Given the description of an element on the screen output the (x, y) to click on. 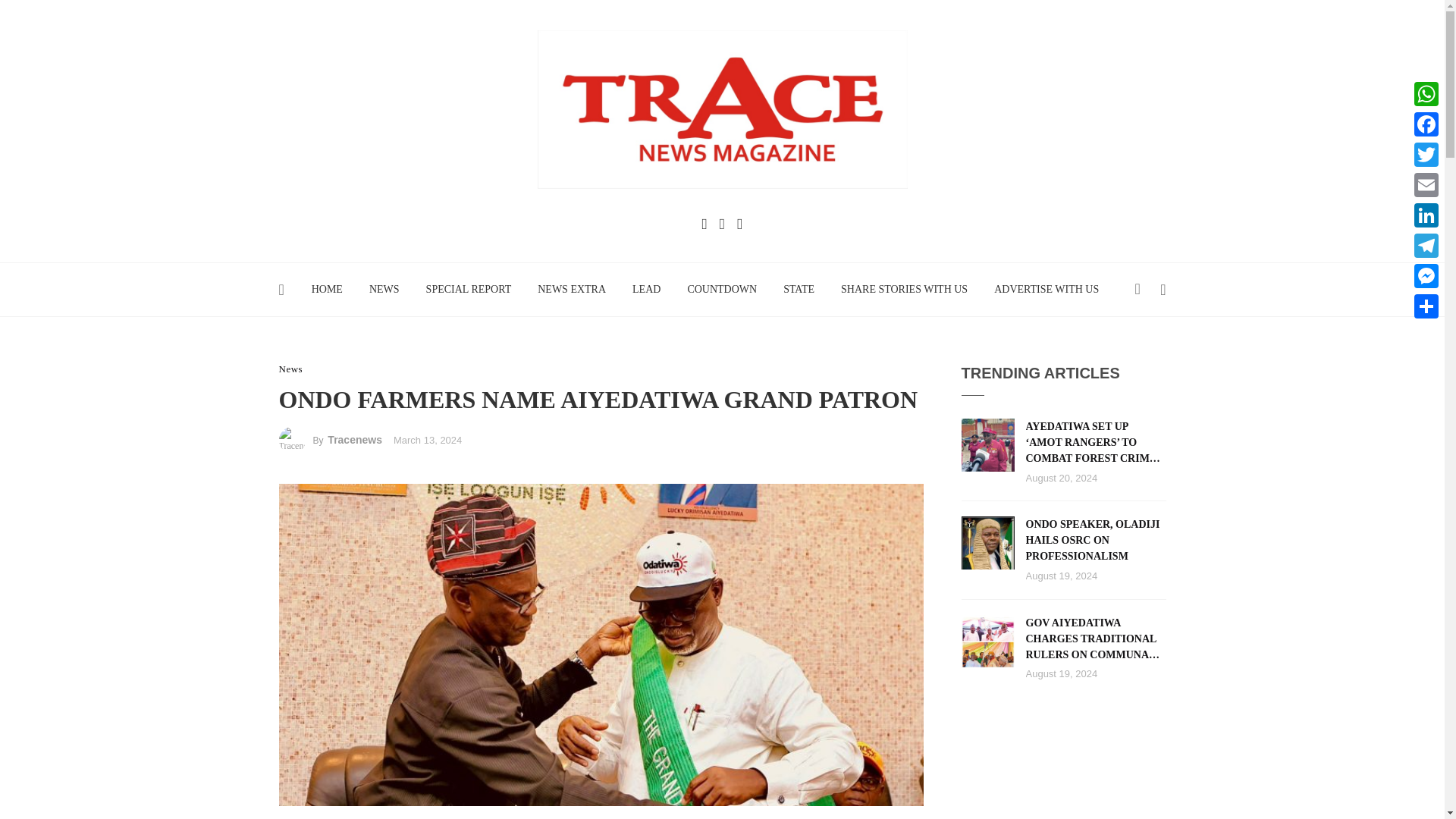
ADVERTISE WITH US (1046, 289)
News (290, 368)
March 13, 2024 at 8:38 am (427, 439)
STATE (799, 289)
SHARE STORIES WITH US (904, 289)
HOME (326, 289)
LEAD (647, 289)
COUNTDOWN (722, 289)
SPECIAL REPORT (468, 289)
NEWS EXTRA (572, 289)
